Given the description of an element on the screen output the (x, y) to click on. 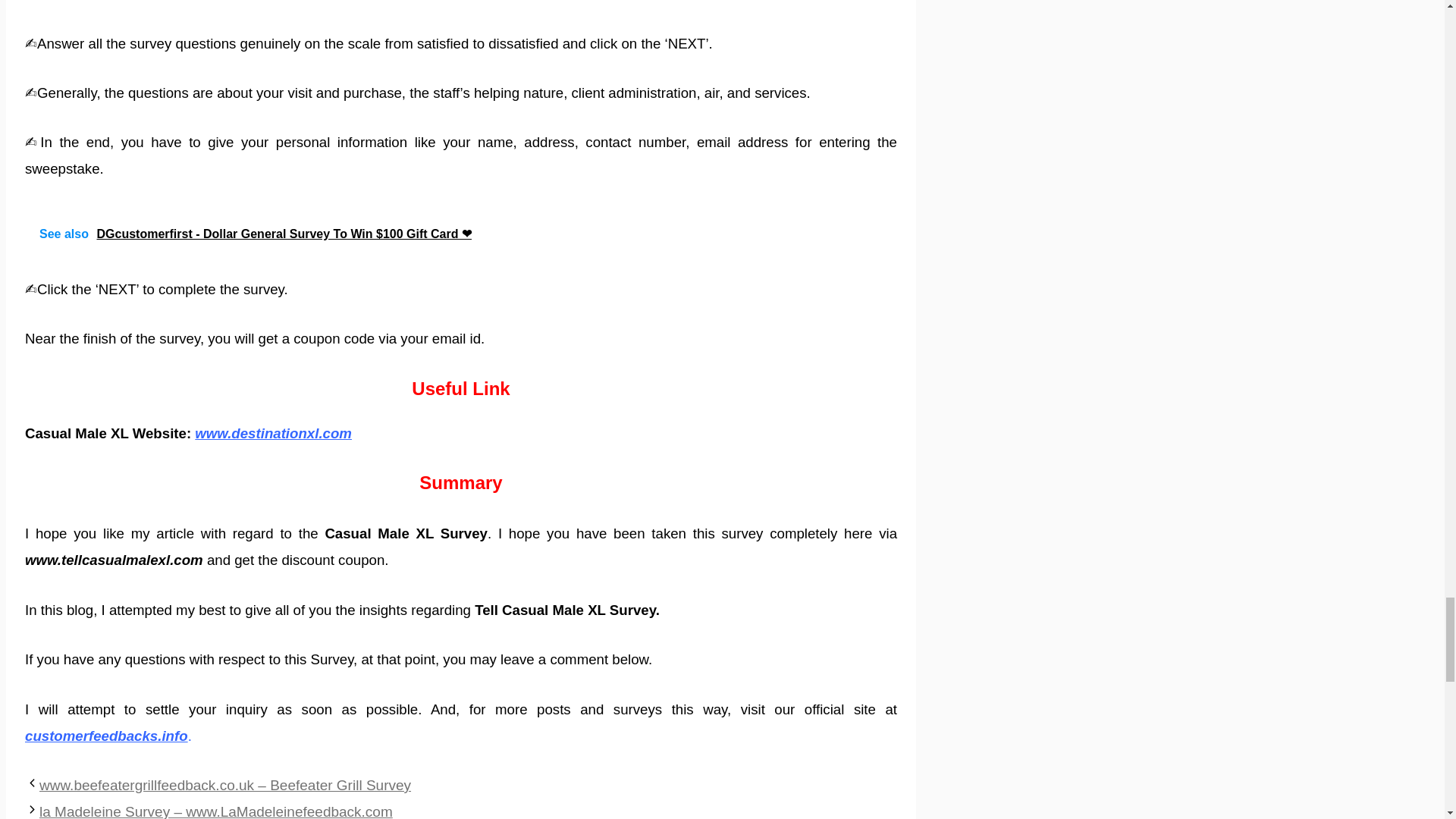
www.destinationxl.com (273, 433)
customerfeedbacks.info (105, 735)
